Given the description of an element on the screen output the (x, y) to click on. 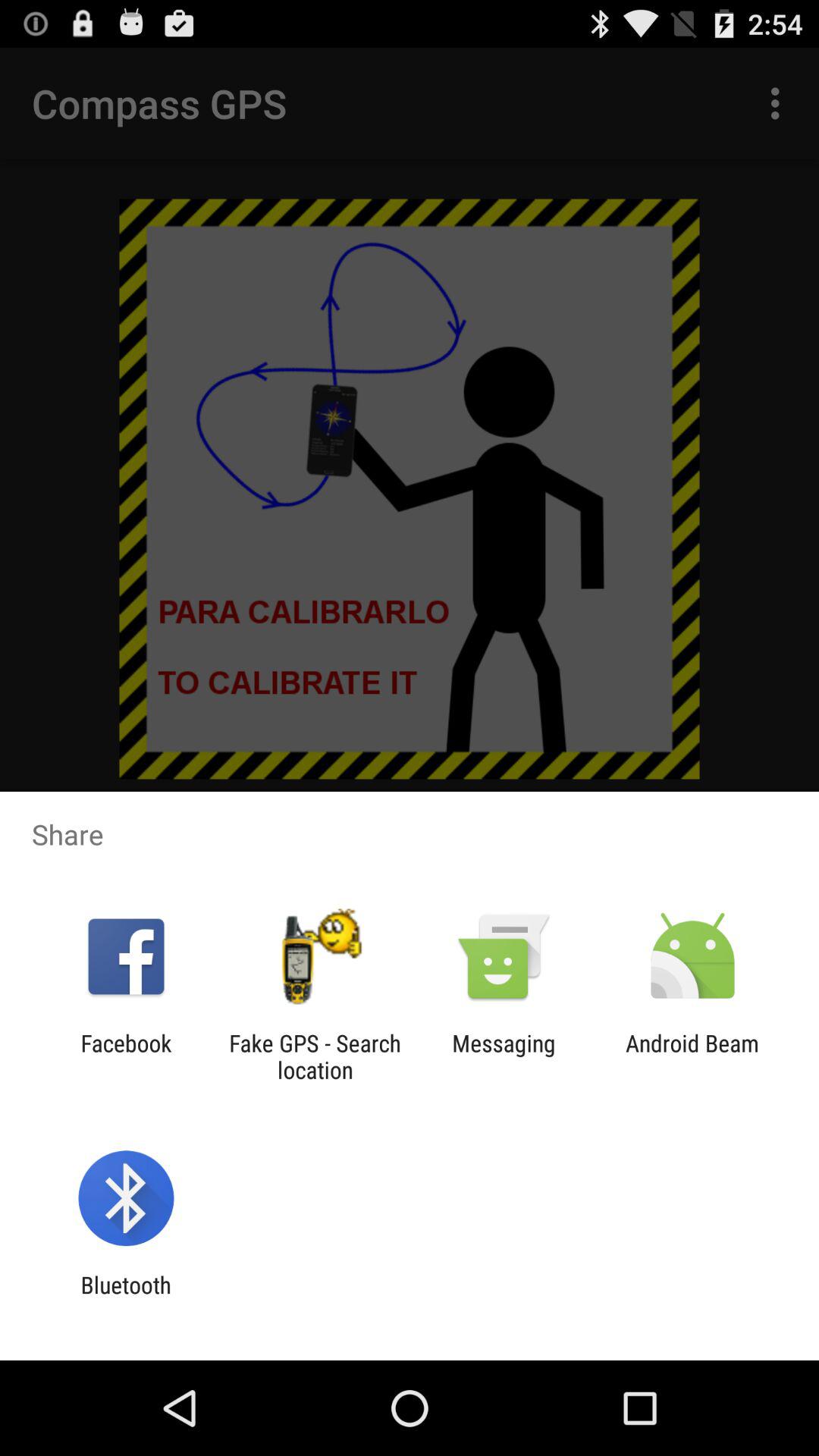
tap the android beam at the bottom right corner (692, 1056)
